Given the description of an element on the screen output the (x, y) to click on. 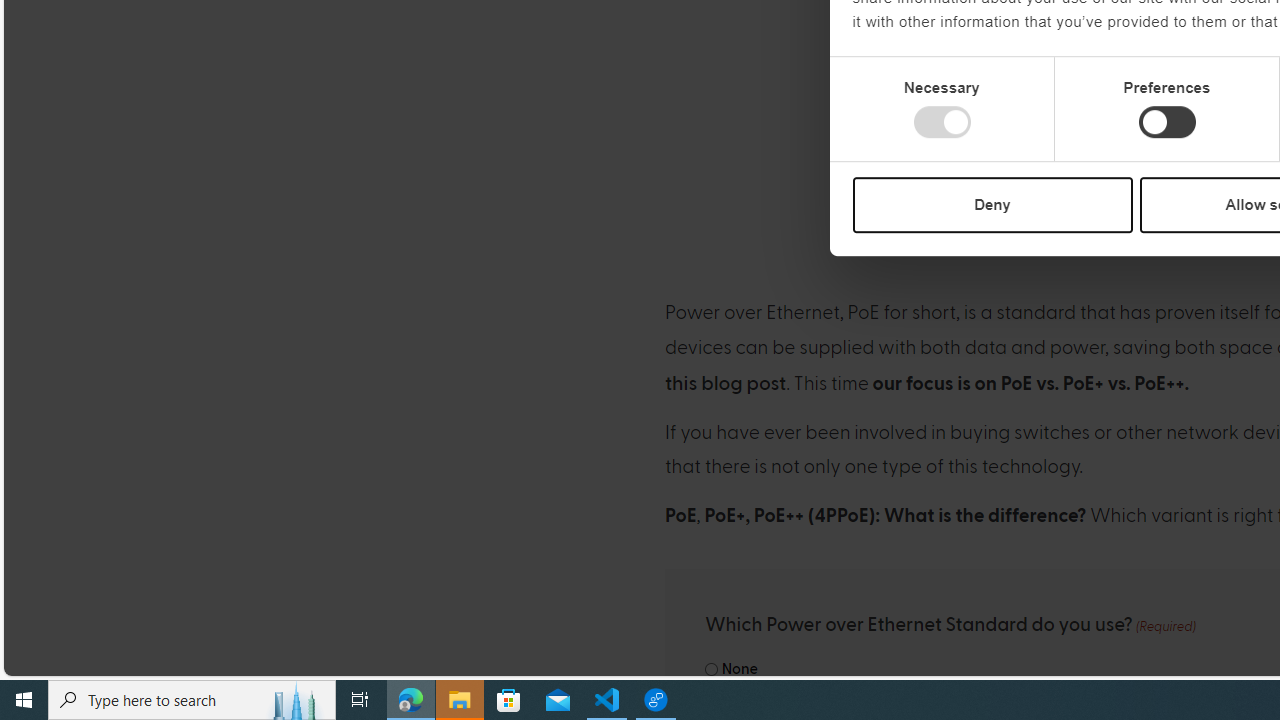
None (711, 669)
Necessary (941, 121)
Preferences (1166, 121)
Deny (992, 204)
